Given the description of an element on the screen output the (x, y) to click on. 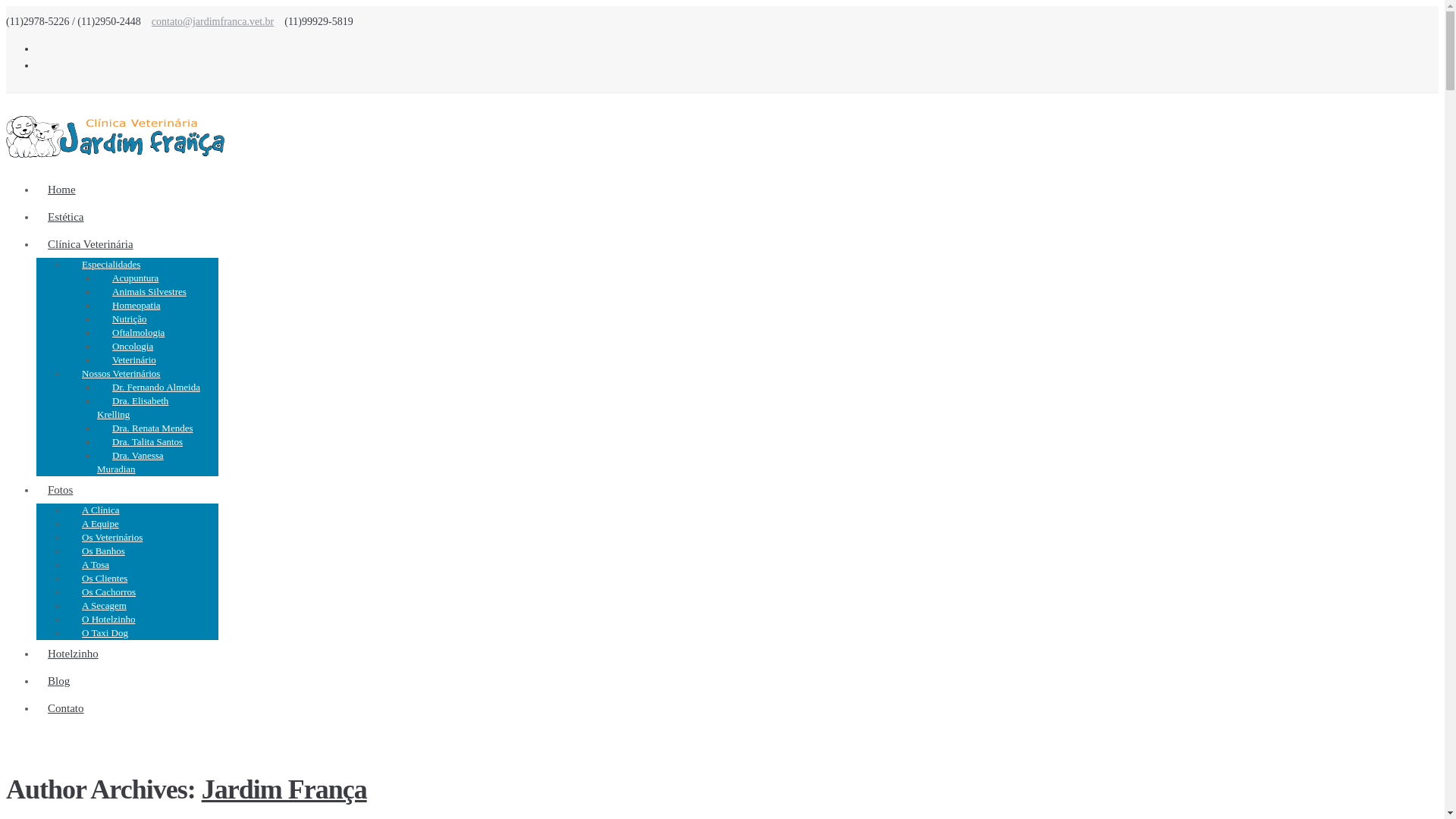
Fotos Element type: text (60, 489)
Dra. Talita Santos Element type: text (147, 441)
Oftalmologia Element type: text (138, 332)
contato@jardimfranca.vet.br Element type: text (212, 21)
Especialidades Element type: text (110, 263)
Os Cachorros Element type: text (108, 591)
A Secagem Element type: text (103, 605)
Dra. Vanessa Muradian Element type: text (130, 461)
A Tosa Element type: text (95, 564)
O Taxi Dog Element type: text (104, 632)
Os Banhos Element type: text (103, 550)
O Hotelzinho Element type: text (108, 618)
A Equipe Element type: text (100, 523)
Homeopatia Element type: text (136, 304)
Animais Silvestres Element type: text (149, 291)
Dra. Elisabeth Krelling Element type: text (132, 407)
Dr. Fernando Almeida Element type: text (156, 386)
Hotelzinho Element type: text (72, 653)
Oncologia Element type: text (132, 345)
Contato Element type: text (65, 708)
Home Element type: text (61, 189)
Dra. Renata Mendes Element type: text (152, 427)
Acupuntura Element type: text (135, 277)
Os Clientes Element type: text (104, 577)
Blog Element type: text (58, 680)
